Given the description of an element on the screen output the (x, y) to click on. 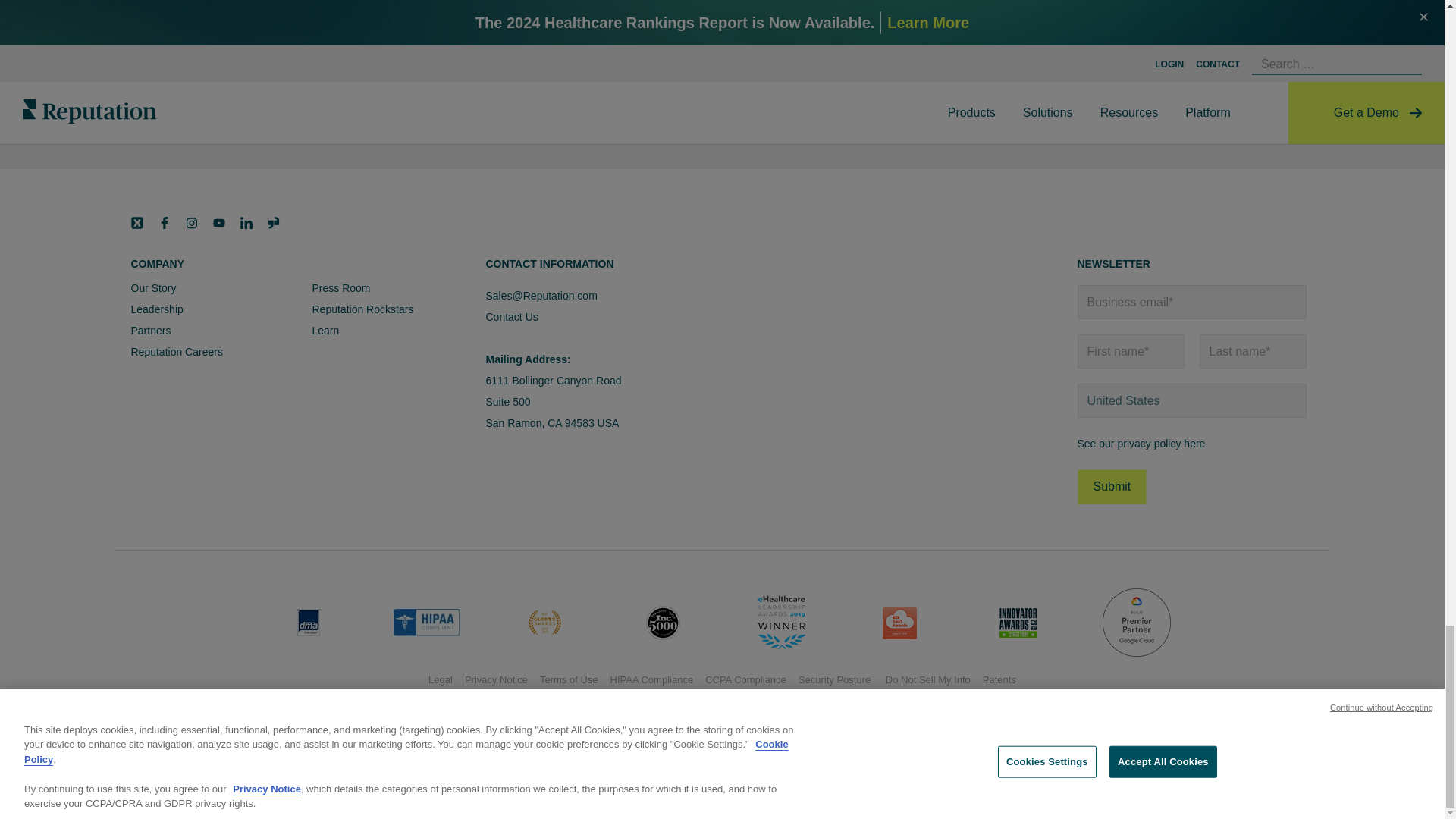
Submit (1112, 486)
Layer 1 (272, 223)
